Given the description of an element on the screen output the (x, y) to click on. 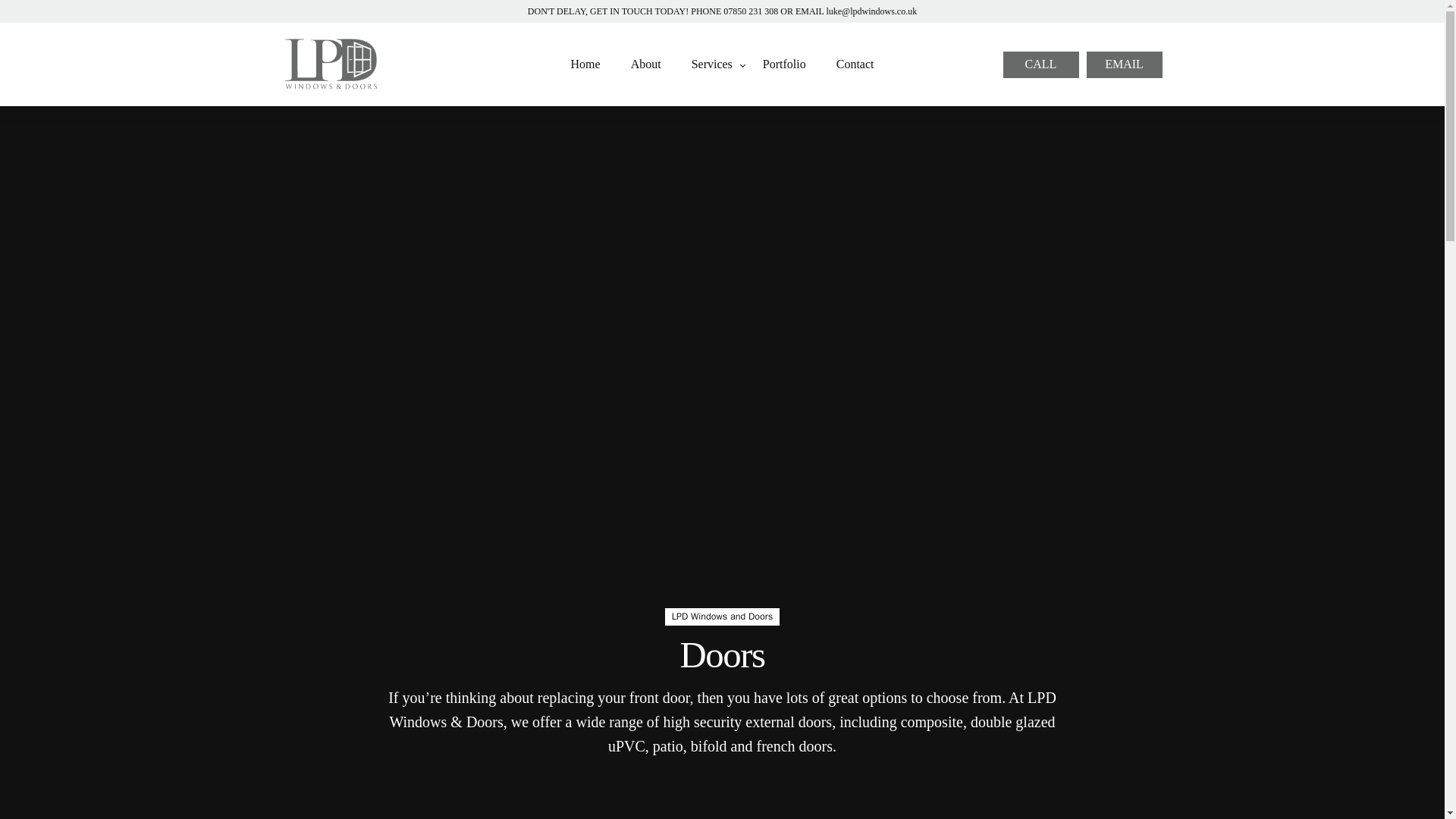
About (646, 64)
Services (712, 64)
Contact (855, 64)
EMAIL (1123, 64)
CALL (1040, 64)
Portfolio (784, 64)
Home (585, 64)
